Given the description of an element on the screen output the (x, y) to click on. 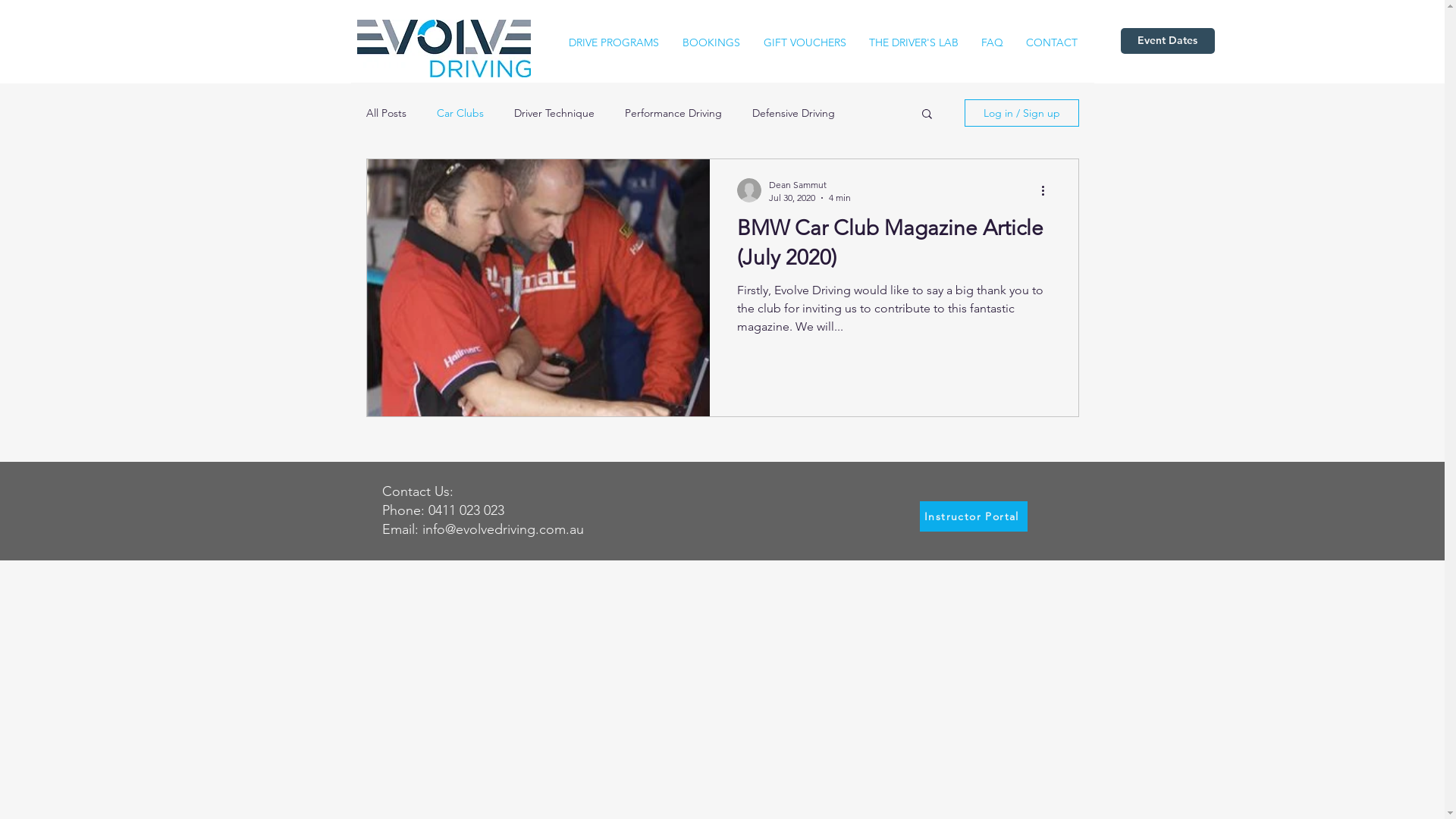
Driver Technique Element type: text (554, 112)
Instructor Portal Element type: text (972, 516)
BOOKINGS Element type: text (710, 42)
Log in / Sign up Element type: text (1021, 112)
BMW Car Club Magazine Article (July 2020) Element type: text (894, 246)
Defensive Driving Element type: text (793, 112)
Event Dates Element type: text (1167, 40)
All Posts Element type: text (385, 112)
THE DRIVER'S LAB Element type: text (912, 42)
Performance Driving Element type: text (672, 112)
Car Clubs Element type: text (459, 112)
DRIVE PROGRAMS Element type: text (613, 42)
CONTACT Element type: text (1051, 42)
GIFT VOUCHERS Element type: text (804, 42)
FAQ Element type: text (991, 42)
